Given the description of an element on the screen output the (x, y) to click on. 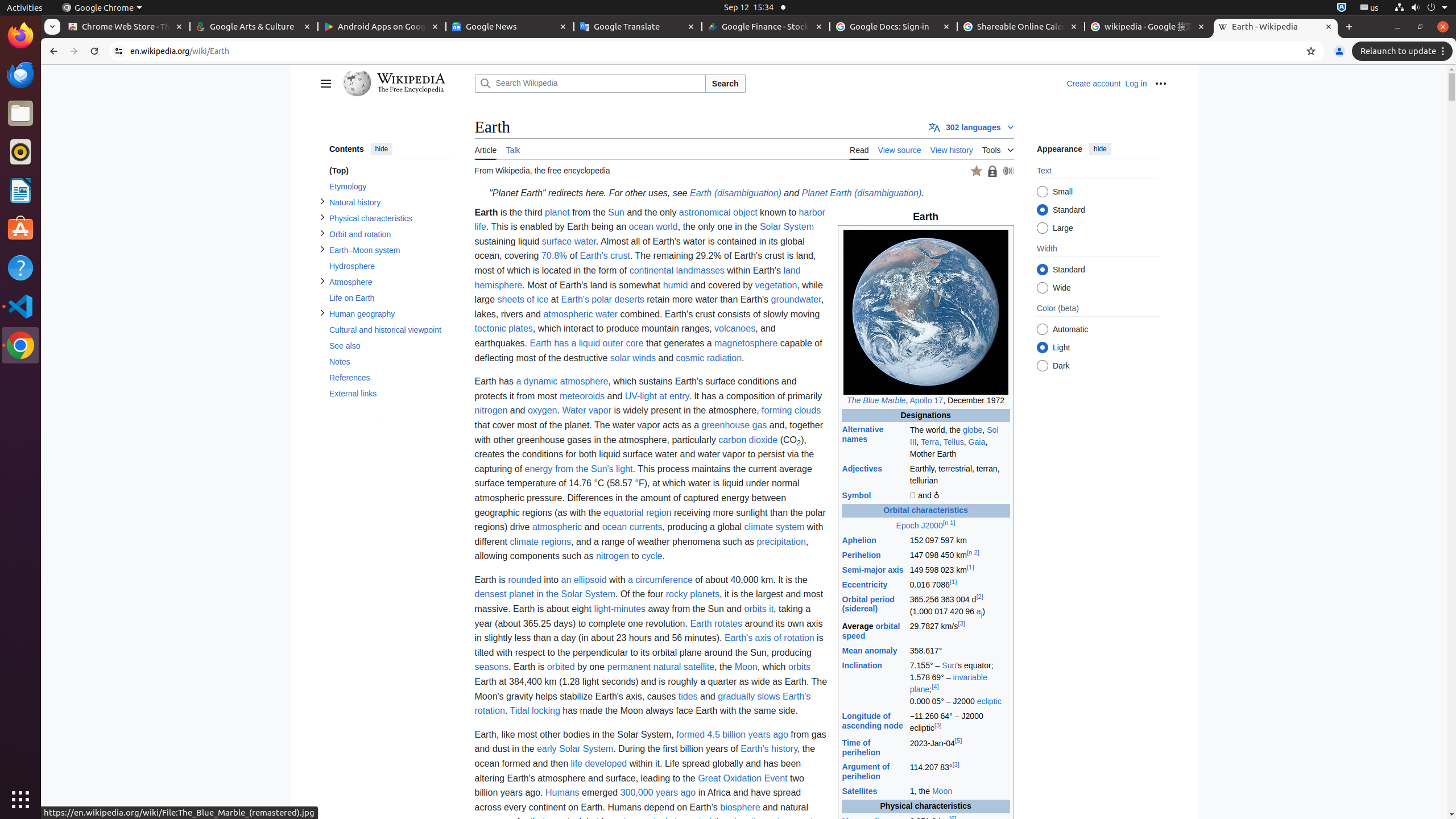
Etymology Element type: link (390, 186)
vegetation Element type: link (775, 284)
equatorial region Element type: link (637, 512)
Read Element type: link (859, 148)
early Solar System Element type: link (574, 748)
